Given the description of an element on the screen output the (x, y) to click on. 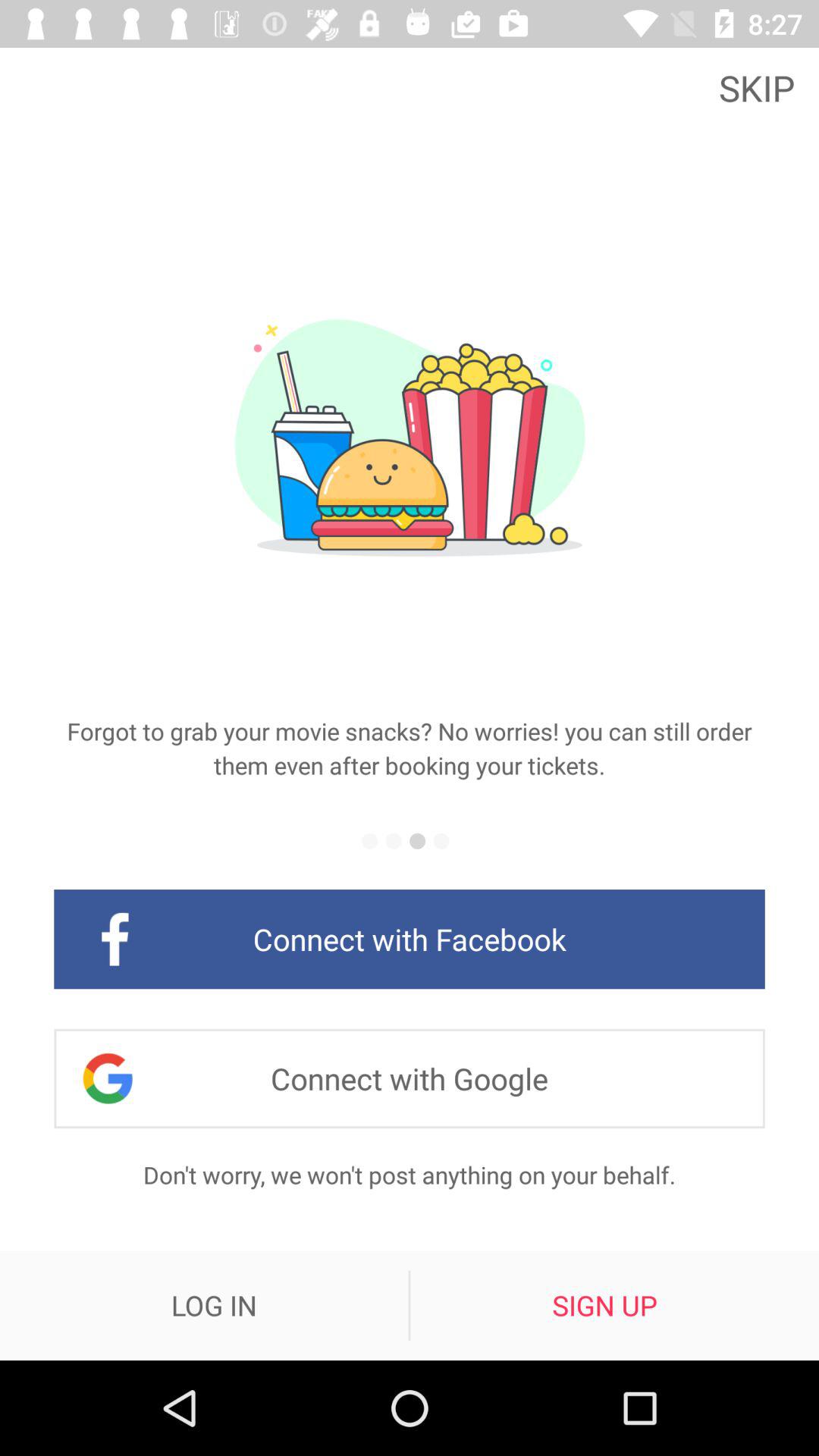
open log in icon (213, 1305)
